Given the description of an element on the screen output the (x, y) to click on. 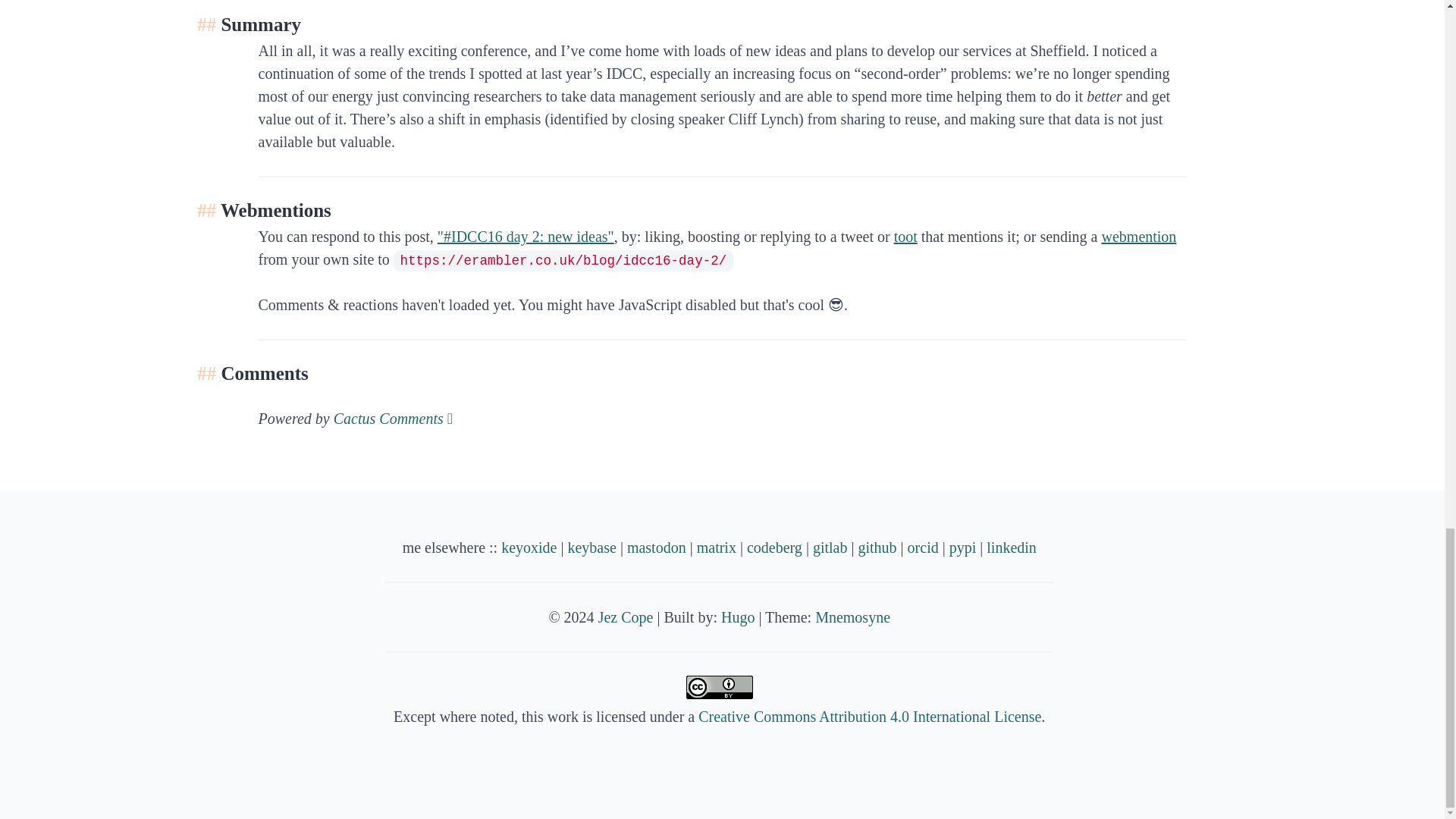
keyoxide (528, 547)
gitlab (829, 547)
Jez Cope (625, 617)
Mnemosyne (852, 617)
webmention (1138, 236)
mastodon (656, 547)
toot (905, 236)
github (876, 547)
Hugo (737, 617)
linkedin (1011, 547)
